Given the description of an element on the screen output the (x, y) to click on. 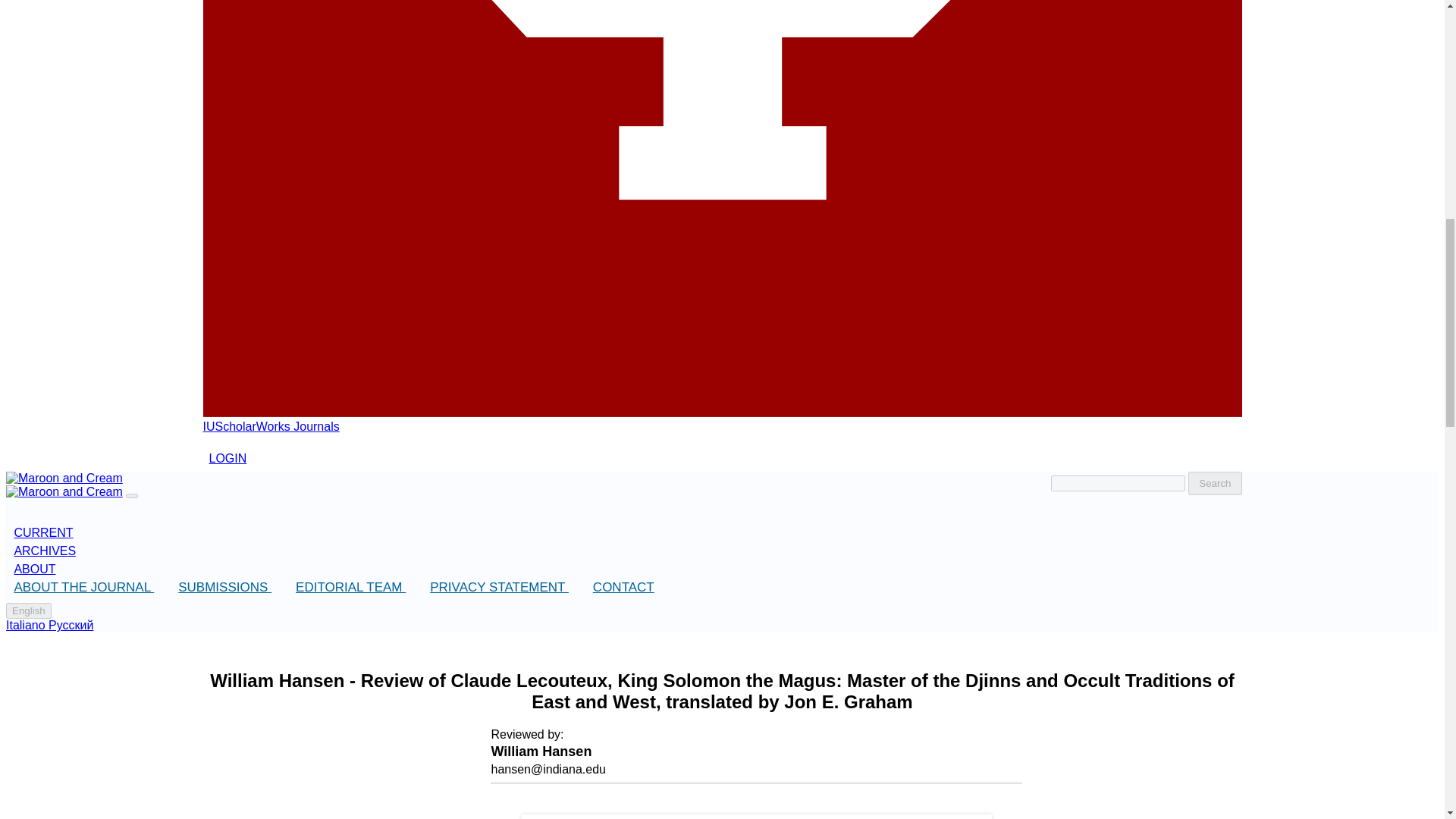
ABOUT THE JOURNAL (83, 586)
LOGIN (228, 459)
CURRENT (27, 610)
ARCHIVES (42, 532)
Search (44, 550)
CONTACT (1214, 483)
IUScholarWorks Journals (622, 586)
PRIVACY STATEMENT (271, 426)
